Given the description of an element on the screen output the (x, y) to click on. 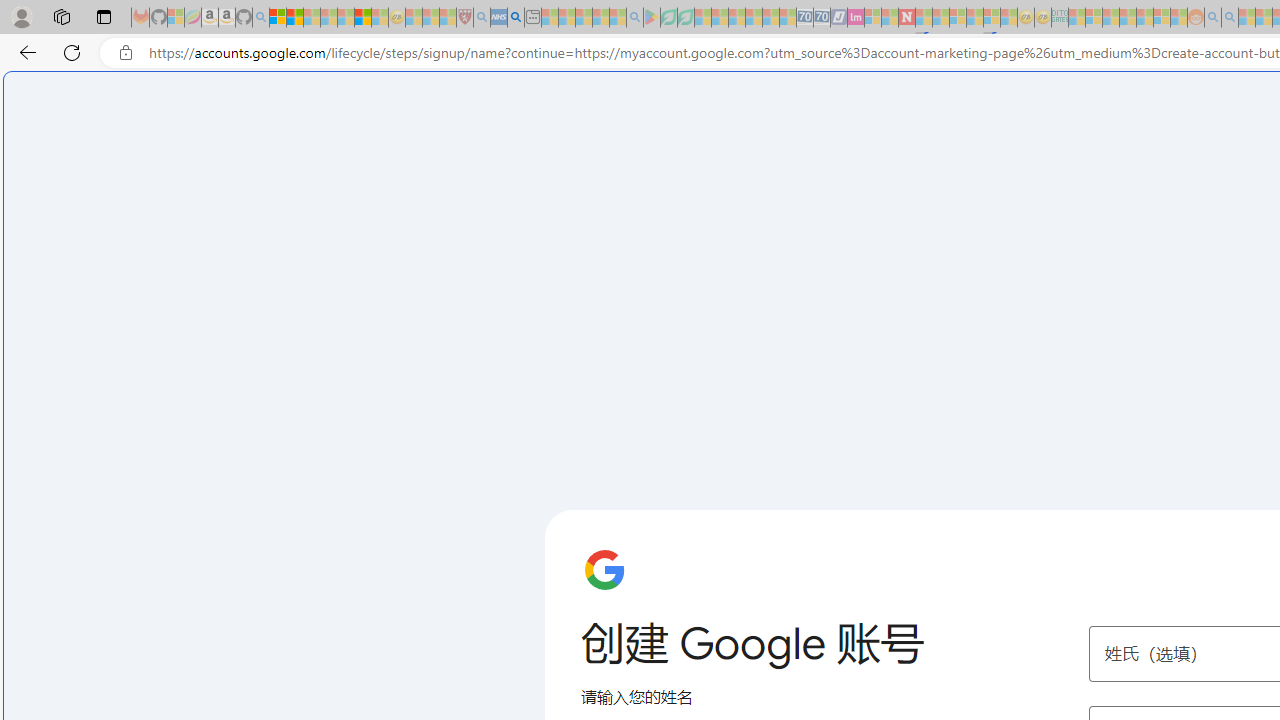
utah sues federal government - Search (515, 17)
